Given the description of an element on the screen output the (x, y) to click on. 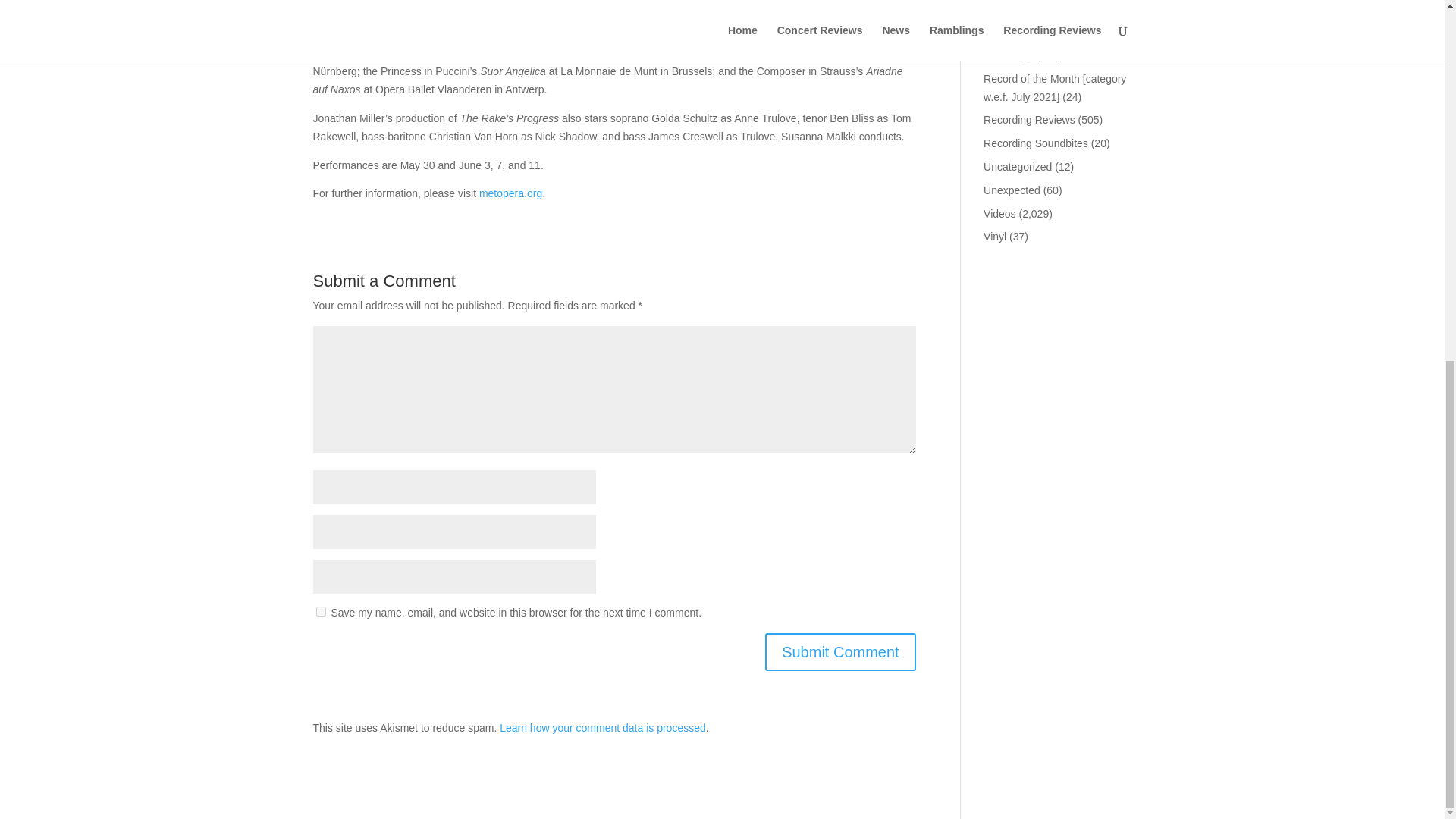
Submit Comment (840, 651)
Submit Comment (840, 651)
Learn how your comment data is processed (602, 727)
metopera.org (510, 193)
yes (319, 611)
Ramblings (1008, 55)
